Given the description of an element on the screen output the (x, y) to click on. 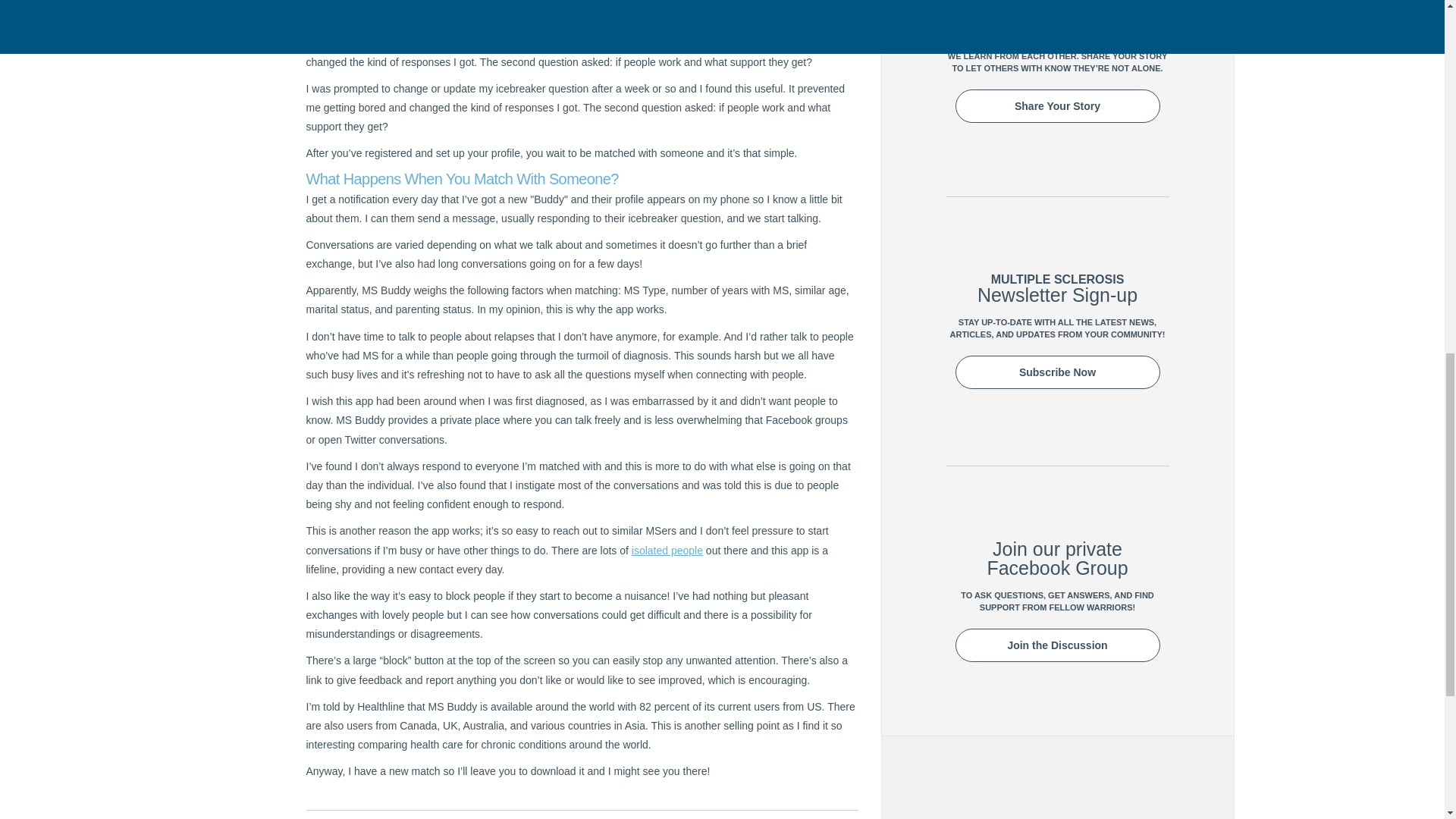
Share Your Story (1057, 105)
Subscribe Now (1057, 371)
Join the Discussion (1057, 644)
isolated people (667, 550)
